Given the description of an element on the screen output the (x, y) to click on. 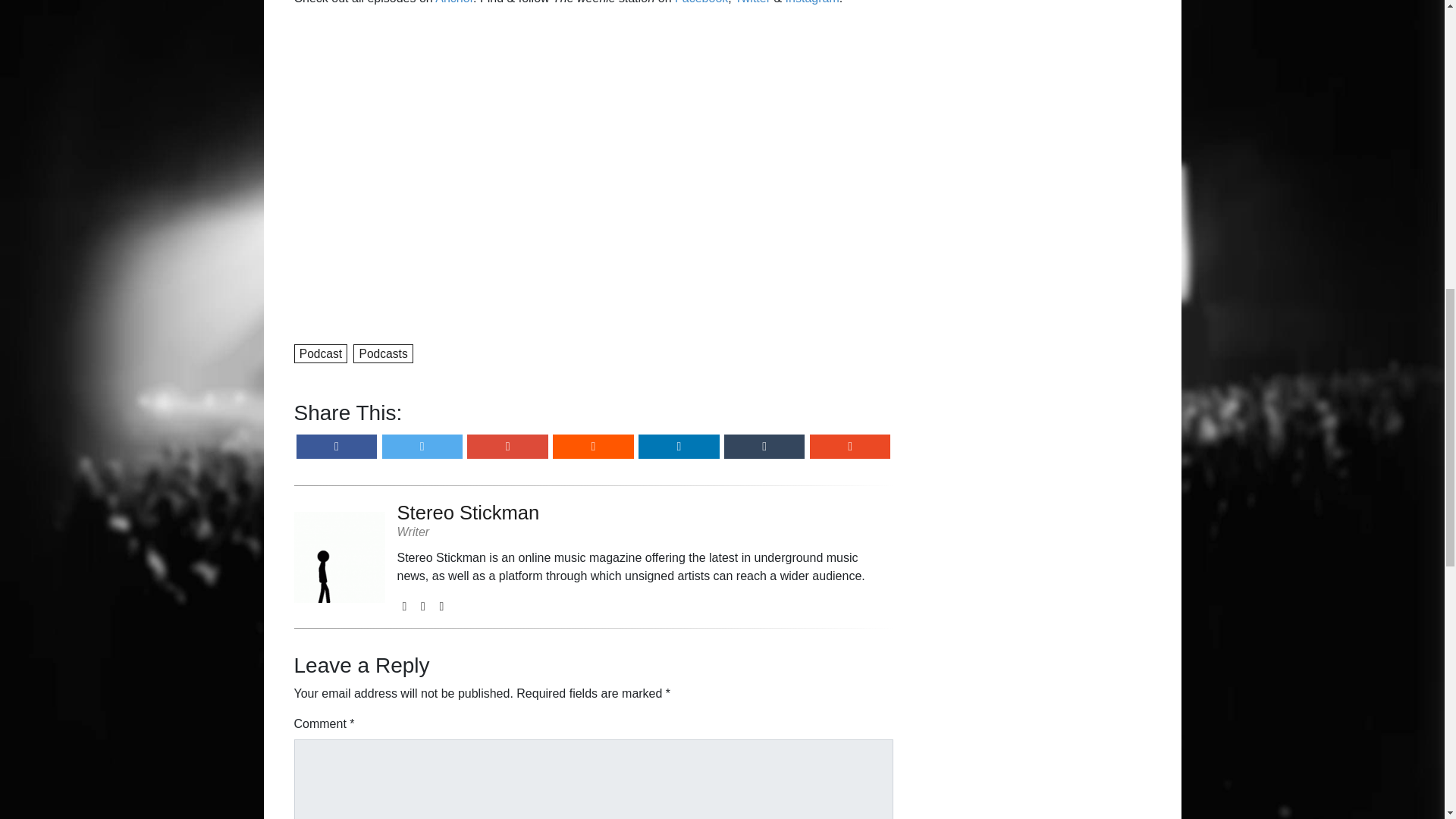
Anchor (454, 2)
Podcast (321, 352)
Podcasts (383, 352)
Instagram (813, 2)
Twitter (752, 2)
Facebook (701, 2)
Stereo Stickman (645, 512)
